Given the description of an element on the screen output the (x, y) to click on. 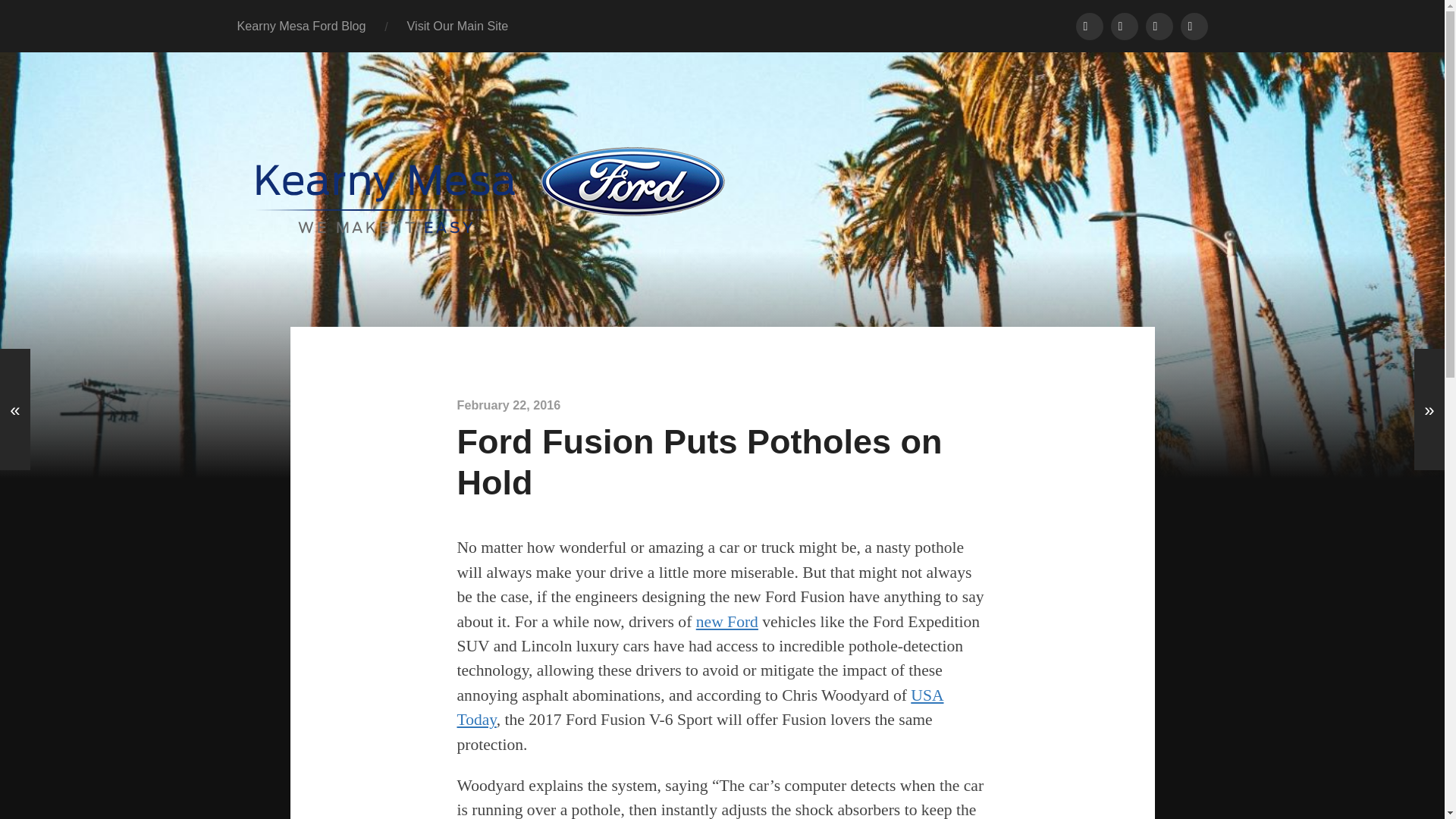
Facebook (1088, 25)
USA Today (700, 707)
Kearny Mesa Ford Blog (301, 26)
Visit Our Main Site (458, 26)
Google Plus (1158, 25)
new Ford (726, 621)
Twitter (1123, 25)
Instagram (1193, 25)
